Given the description of an element on the screen output the (x, y) to click on. 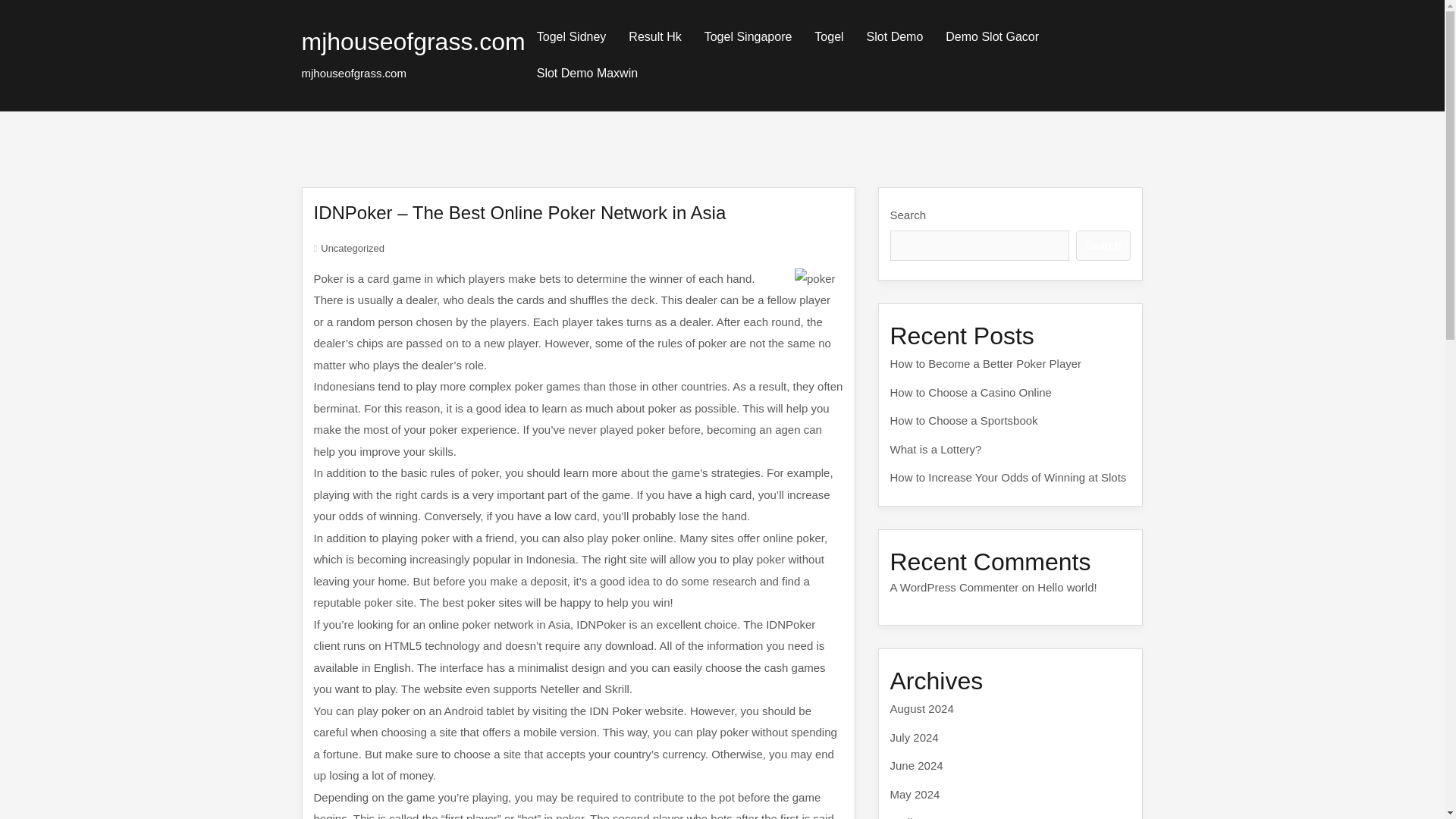
A WordPress Commenter (954, 586)
slot demo (895, 36)
mjhouseofgrass.com (413, 41)
Search (1103, 245)
July 2024 (914, 737)
result hk (655, 36)
togel (828, 36)
April 2024 (915, 817)
Result Hk (655, 36)
slot demo maxwin (587, 73)
togel singapore (748, 36)
Uncategorized (352, 247)
August 2024 (921, 707)
Slot Demo (895, 36)
May 2024 (914, 793)
